Given the description of an element on the screen output the (x, y) to click on. 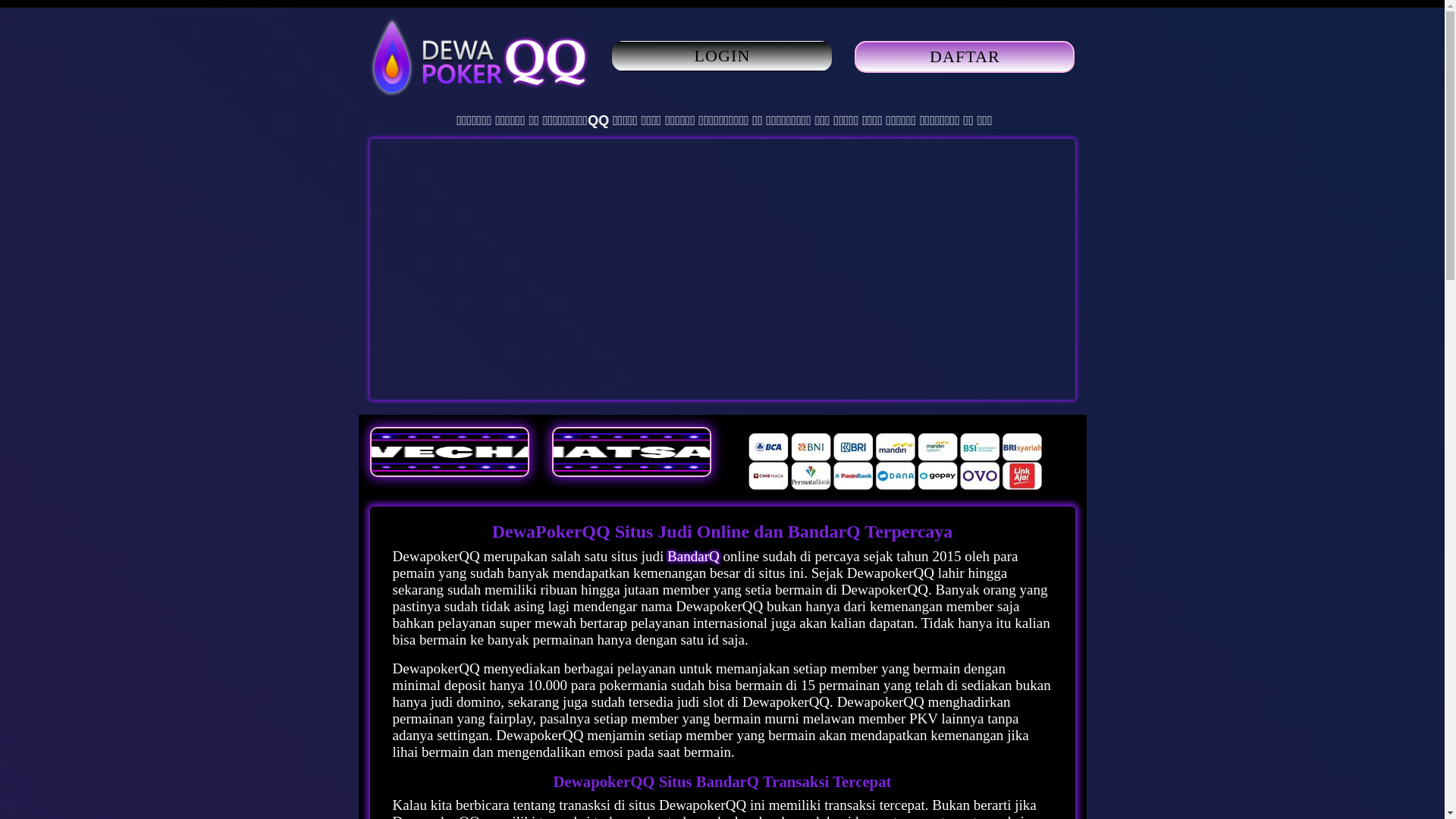
DAFTAR Element type: text (964, 57)
LOGIN Element type: text (721, 56)
DAFTAR Element type: text (964, 56)
LOGIN Element type: text (721, 55)
BandarQ Element type: text (694, 556)
